Given the description of an element on the screen output the (x, y) to click on. 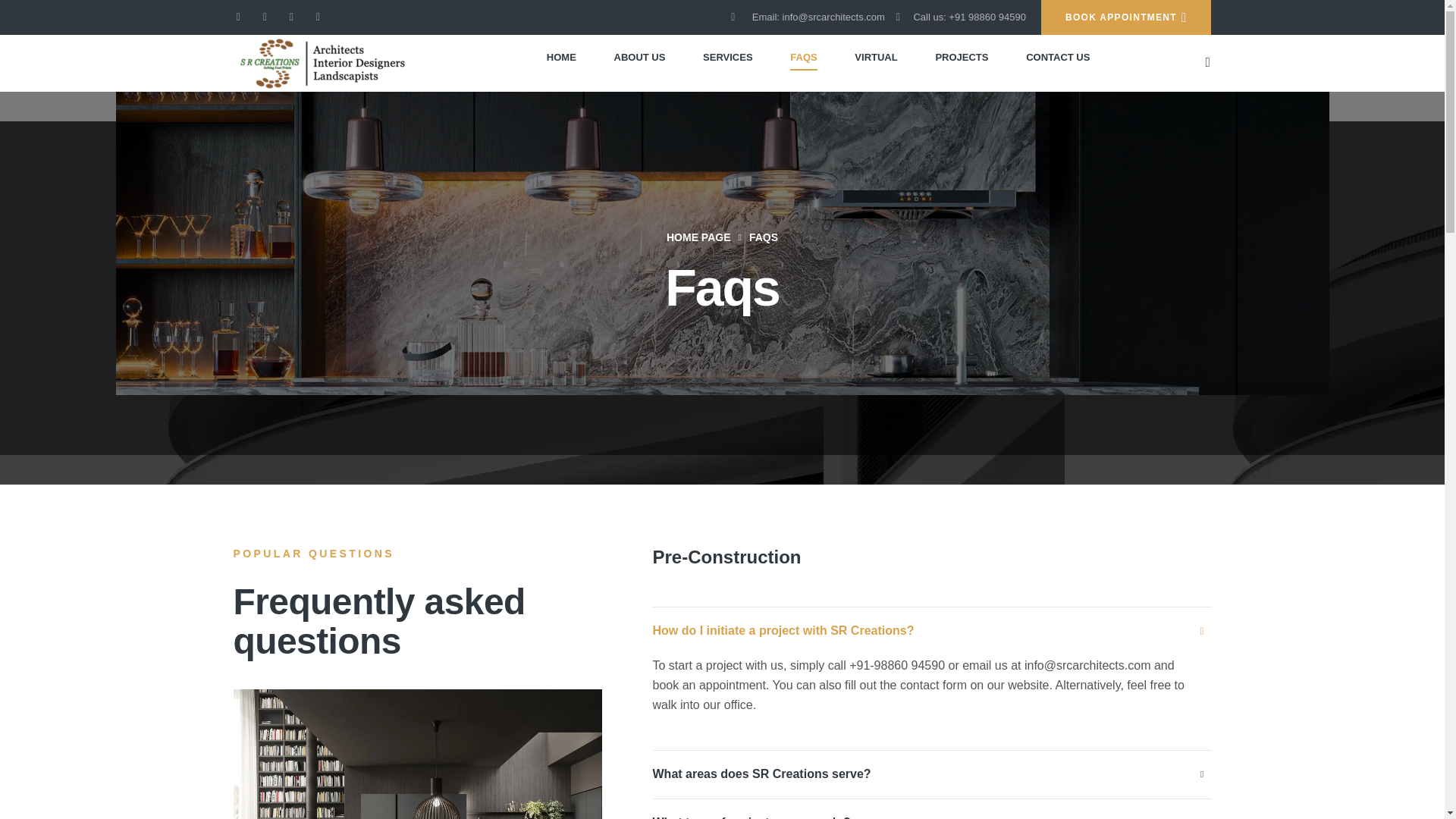
ABOUT US (639, 57)
CONTACT US (1057, 57)
What type of projects can you do? (751, 816)
PROJECTS (962, 57)
h8-slider01 (417, 754)
HOME PAGE (698, 236)
What areas does SR Creations serve? (761, 773)
VIRTUAL (876, 57)
How do I initiate a project with SR Creations? (783, 630)
BOOK APPOINTMENT (1126, 17)
SERVICES (727, 57)
